Given the description of an element on the screen output the (x, y) to click on. 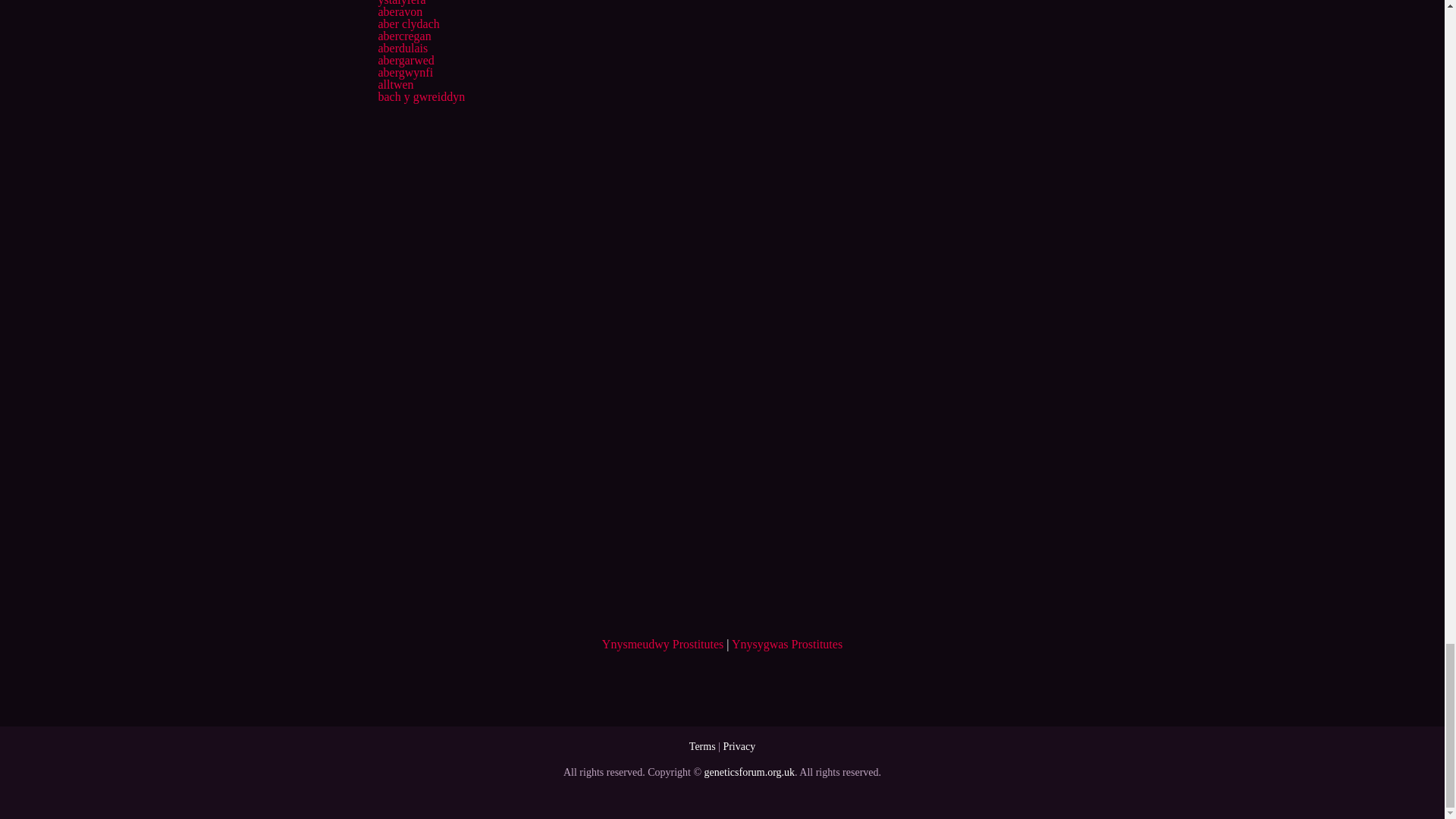
Ynysygwas Prostitutes (787, 644)
abercregan (403, 35)
aberavon (399, 11)
geneticsforum.org.uk (749, 772)
abergwynfi (404, 72)
ystalyfera (401, 2)
alltwen (395, 83)
bach y gwreiddyn (420, 96)
Privacy (738, 746)
Terms (702, 746)
